Given the description of an element on the screen output the (x, y) to click on. 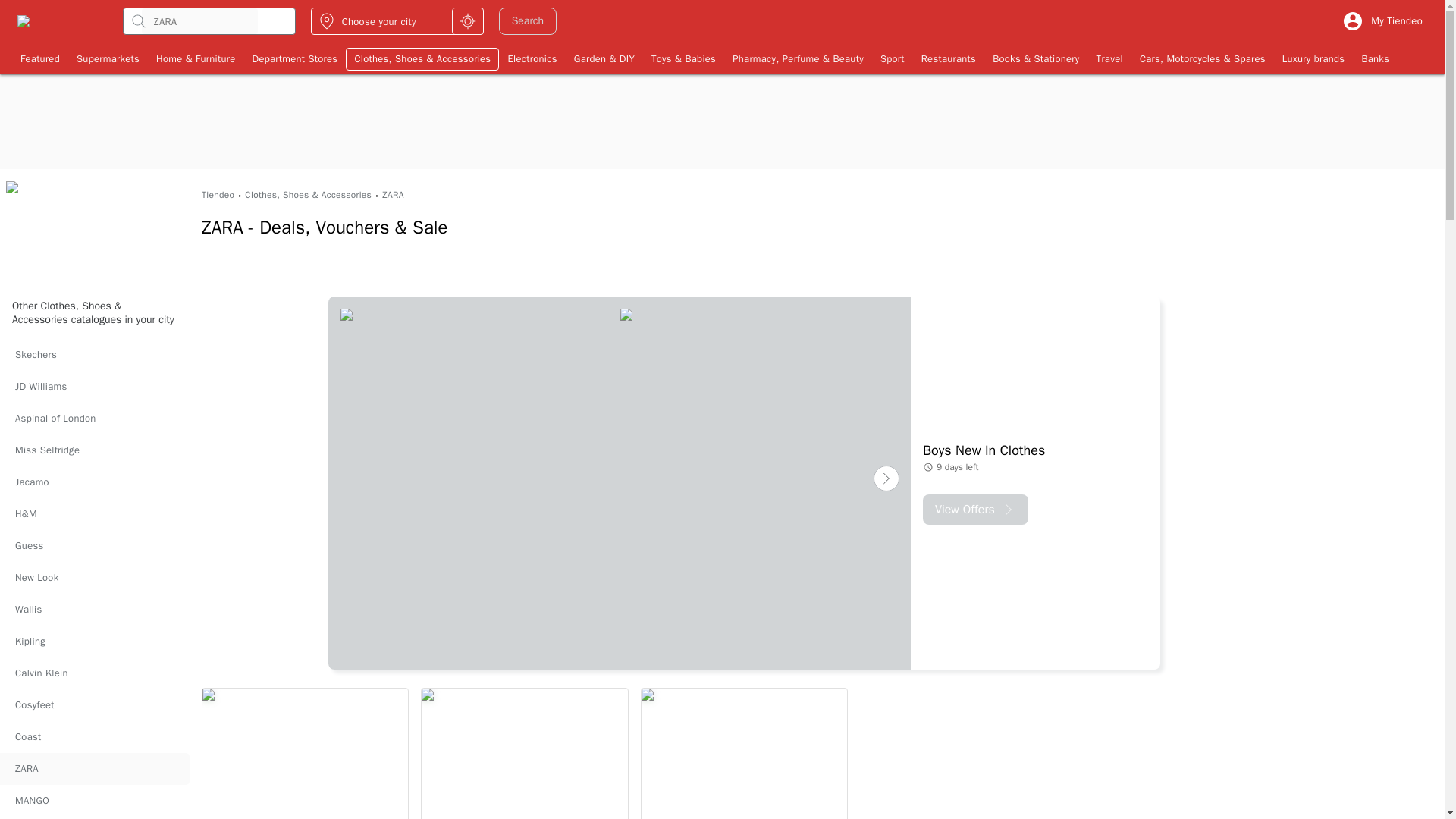
Banks (1374, 58)
ZARA (392, 195)
Supermarkets (108, 58)
Kipling (94, 641)
Jacamo (94, 481)
Search (528, 21)
Wallis (94, 609)
Coast (94, 736)
Tiendeo (218, 195)
Electronics (531, 58)
Sport (892, 58)
My Tiendeo (1381, 21)
Miss Selfridge (94, 450)
Cosyfeet (94, 705)
Department Stores (295, 58)
